Given the description of an element on the screen output the (x, y) to click on. 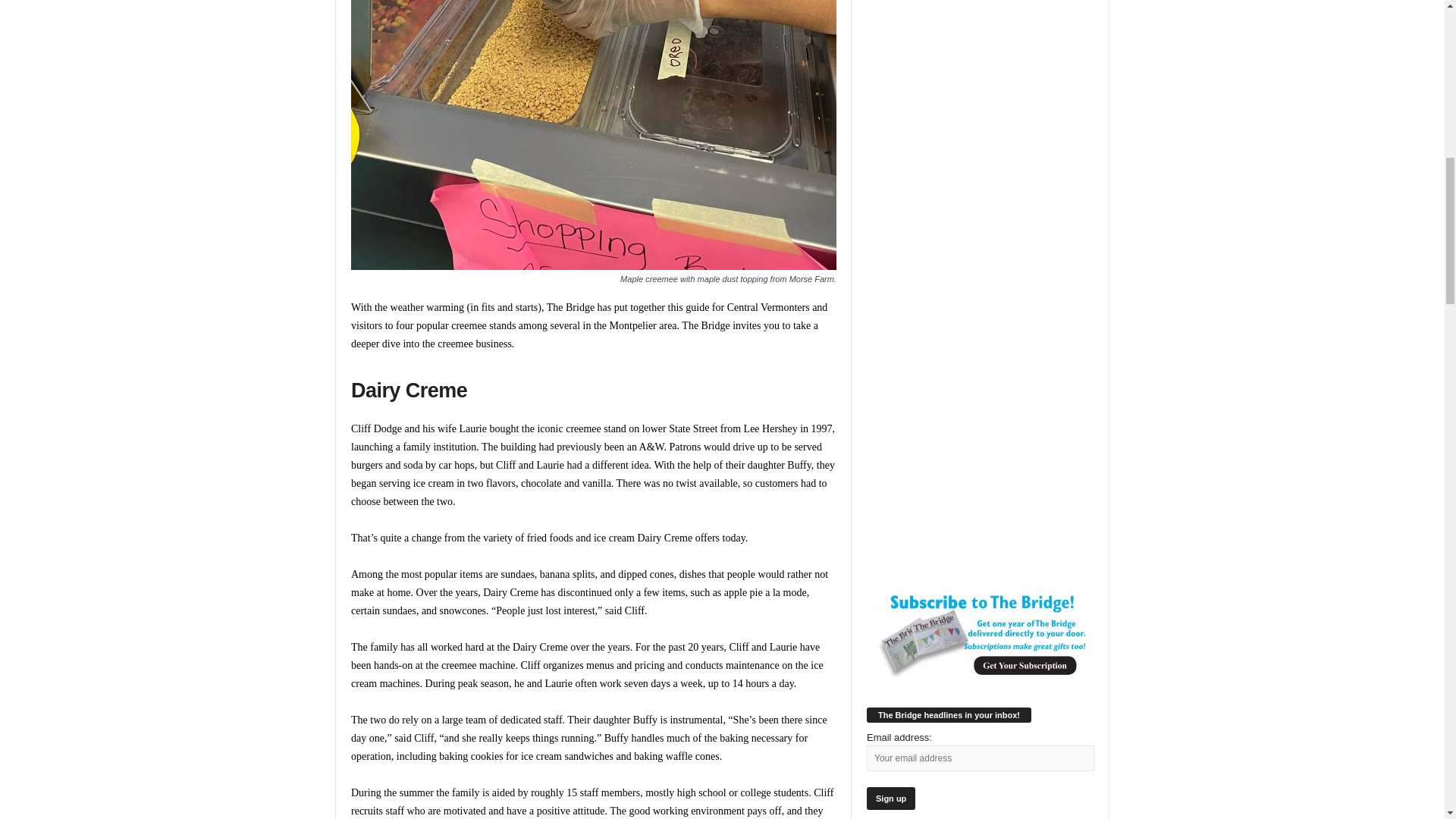
Sign up (890, 798)
